Given the description of an element on the screen output the (x, y) to click on. 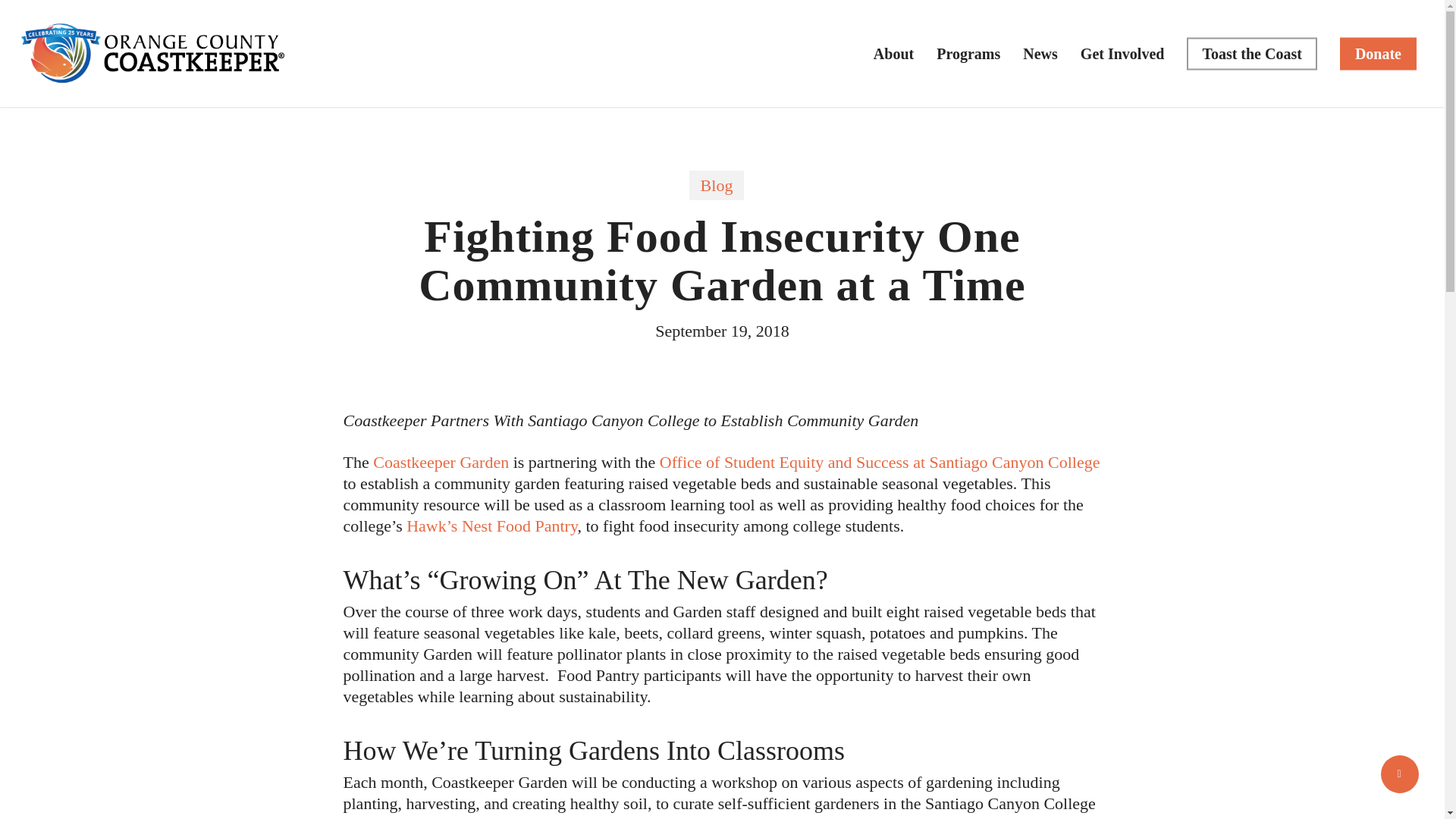
Donate (1377, 53)
Blog (716, 184)
Programs (968, 53)
Get Involved (1122, 53)
Toast the Coast (1251, 53)
About (893, 53)
Coastkeeper Garden (440, 461)
News (1040, 53)
